Given the description of an element on the screen output the (x, y) to click on. 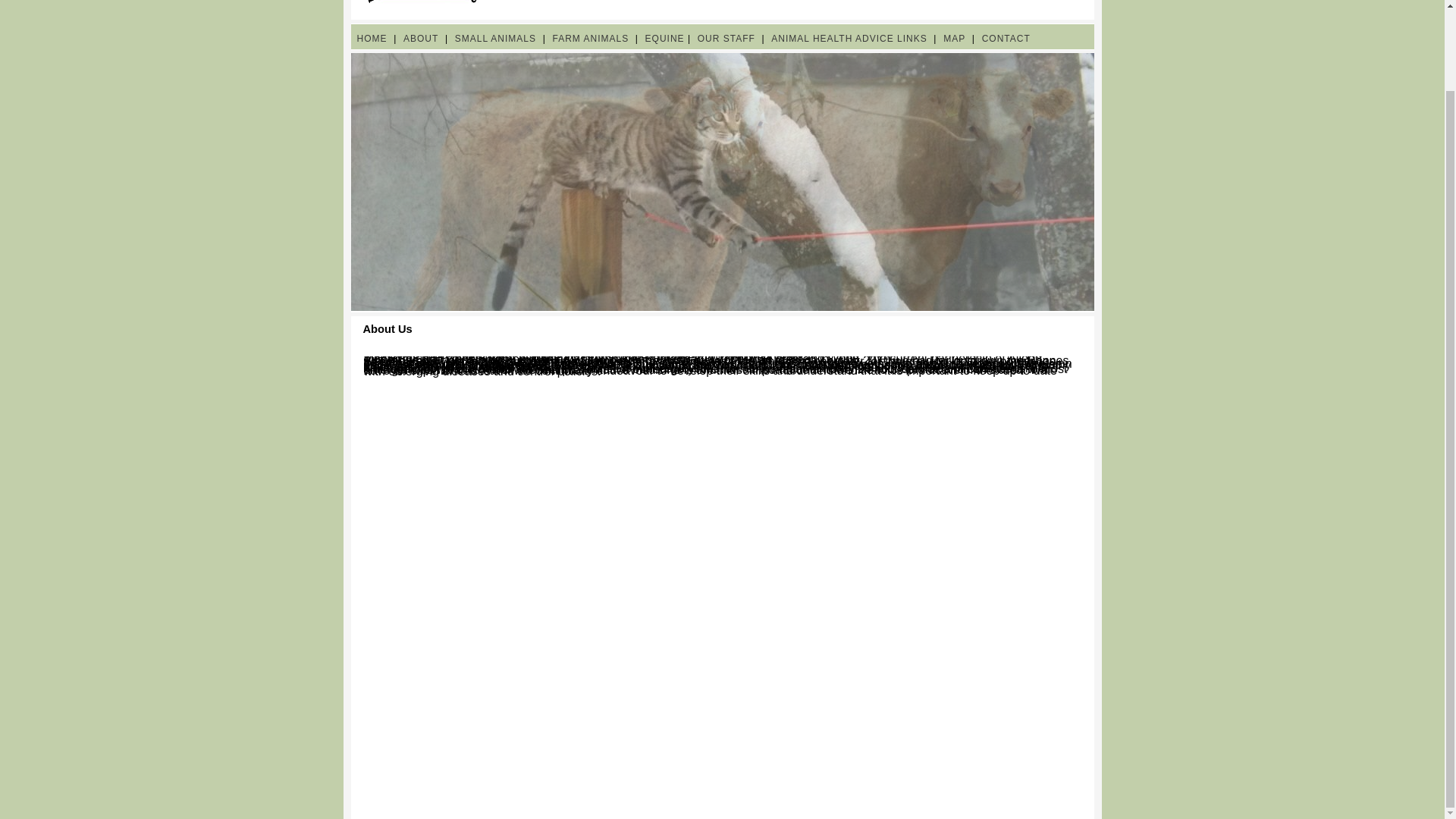
FARM ANIMALS (589, 38)
OUR STAFF (726, 38)
HOME (371, 38)
ANIMAL HEALTH ADVICE LINKS (848, 38)
CONTACT (1005, 38)
MAP (954, 38)
SMALL ANIMALS (494, 38)
ABOUT (420, 38)
EQUINE (664, 38)
